Given the description of an element on the screen output the (x, y) to click on. 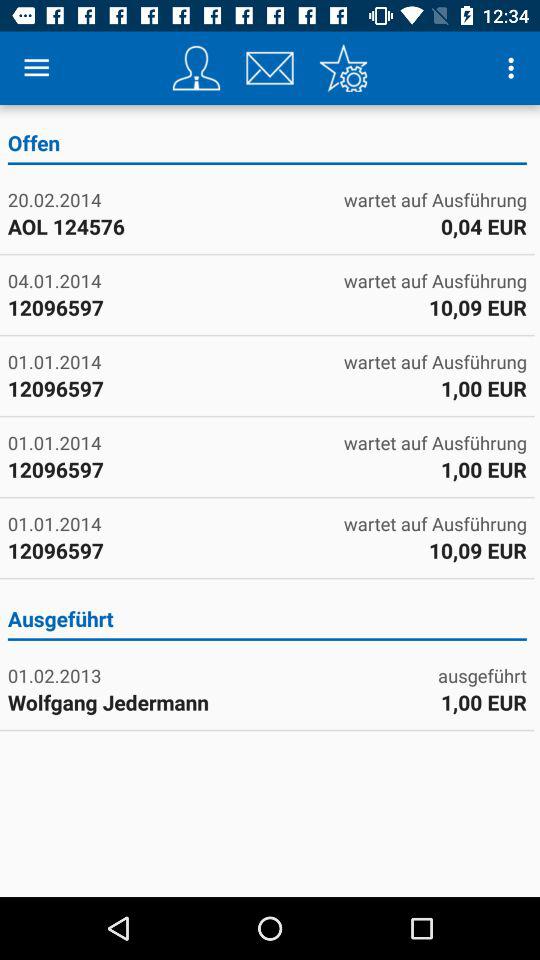
settings for app (343, 67)
